Given the description of an element on the screen output the (x, y) to click on. 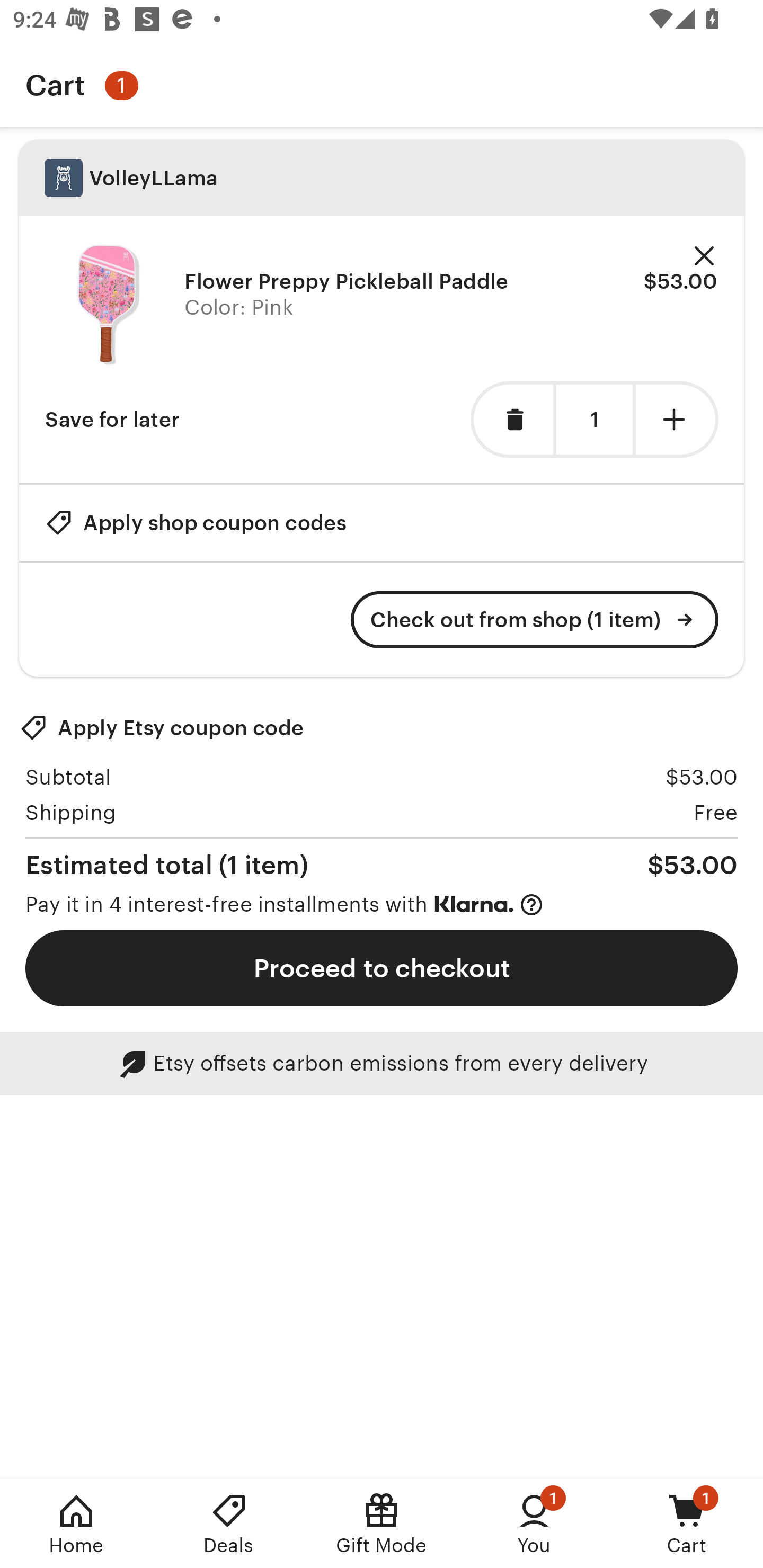
VolleyLLama (381, 177)
Remove (704, 255)
Flower Preppy Pickleball Paddle (107, 304)
Flower Preppy Pickleball Paddle (346, 281)
Save for later (112, 419)
Remove item from cart (511, 419)
Add one unit to cart (676, 419)
1 (594, 419)
Apply shop coupon codes (195, 522)
Check out from shop (1 item) (534, 619)
Apply Etsy coupon code (161, 727)
Proceed to checkout (381, 967)
Home (76, 1523)
Deals (228, 1523)
Gift Mode (381, 1523)
You, 1 new notification You (533, 1523)
